Given the description of an element on the screen output the (x, y) to click on. 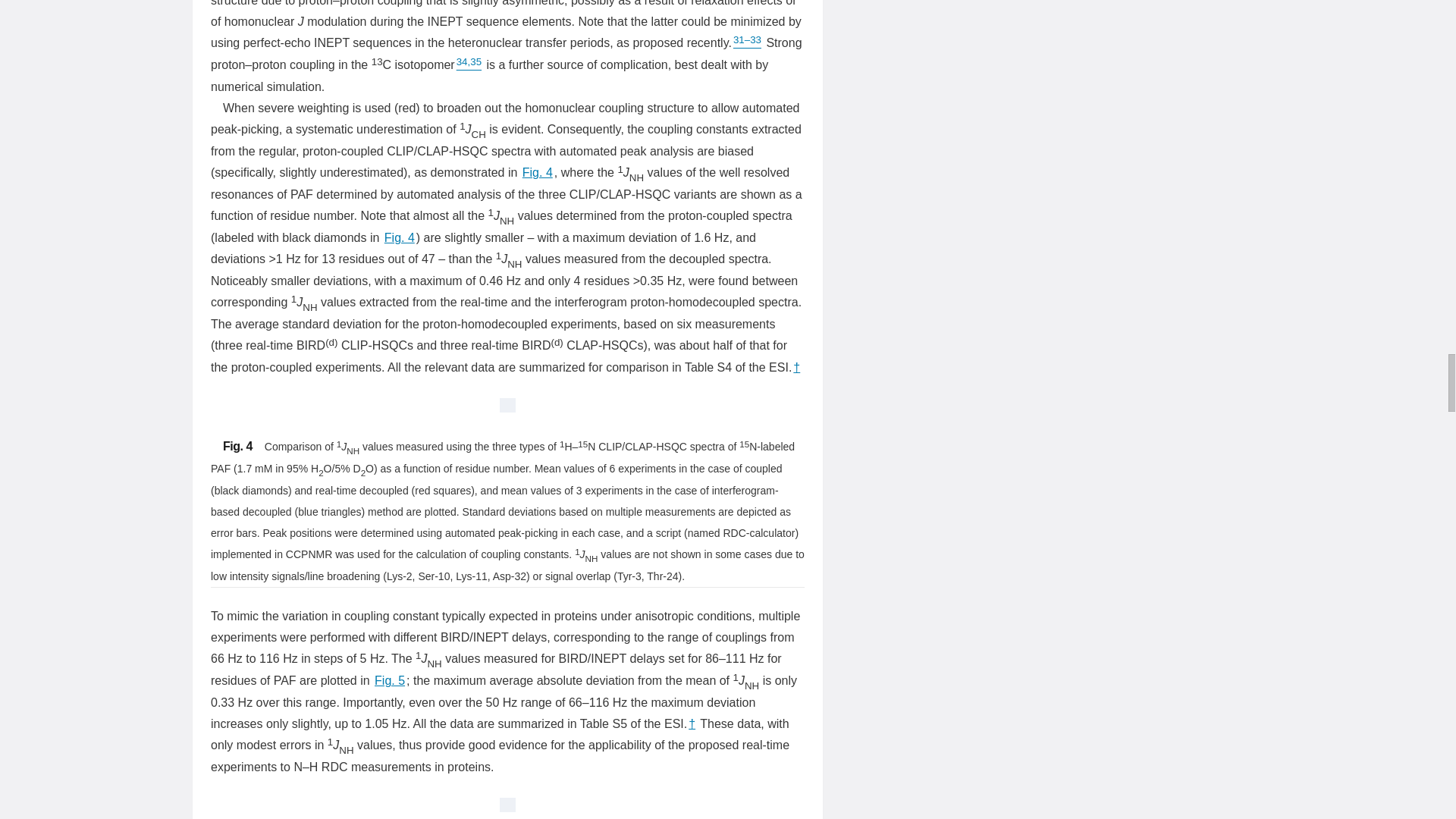
Select to open image in new window (506, 408)
Select to open image in new window (506, 807)
